Given the description of an element on the screen output the (x, y) to click on. 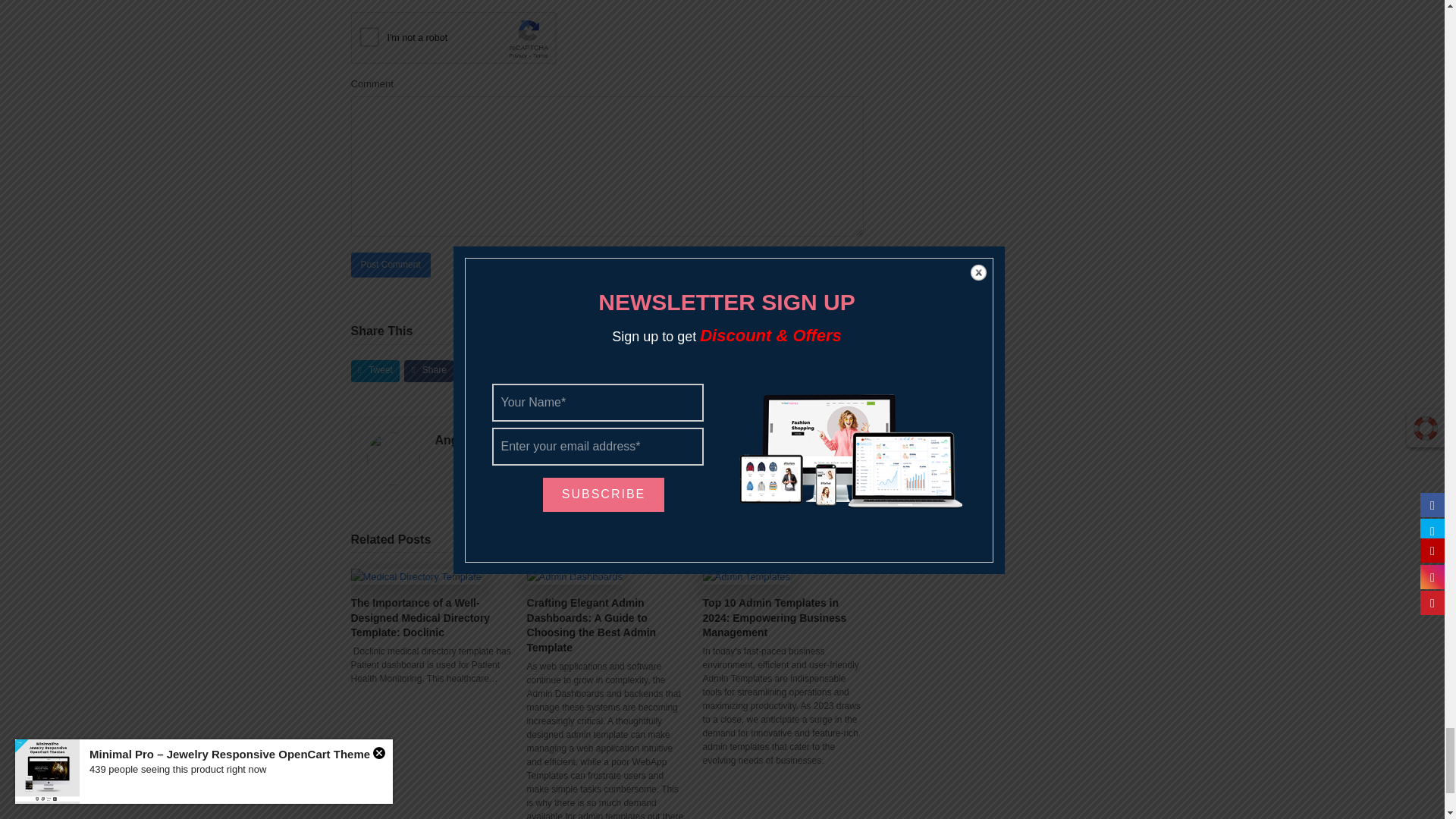
Visit Author Page (393, 457)
Post Comment (389, 264)
Visit Author Page (473, 440)
reCAPTCHA (465, 41)
